Given the description of an element on the screen output the (x, y) to click on. 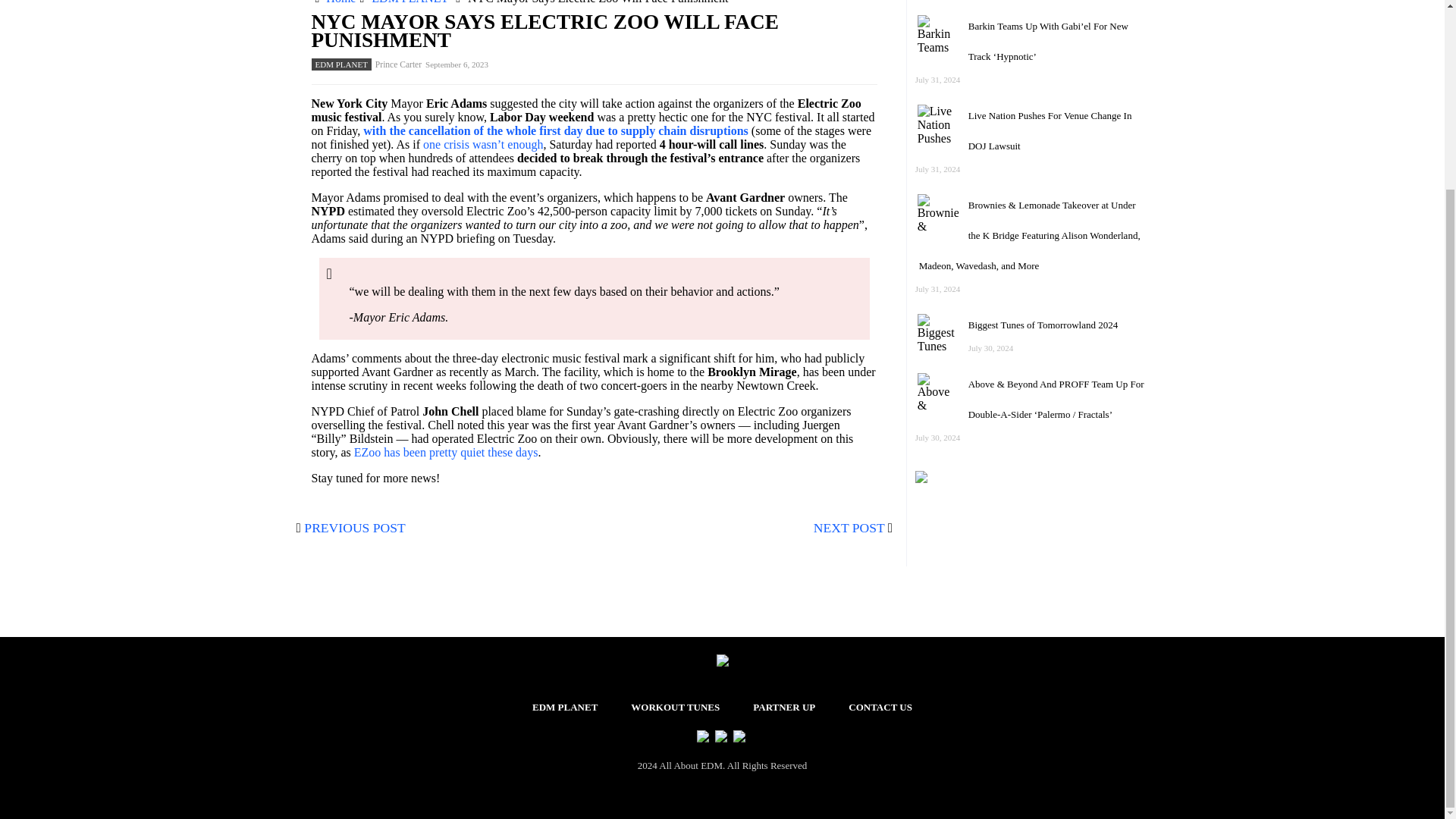
Prince Carter (398, 63)
EDM PLANET (341, 64)
EDM PLANET (409, 2)
Home (340, 2)
WORKOUT TUNES (675, 707)
PARTNER UP (783, 707)
PREVIOUS POST (354, 527)
EDM PLANET (564, 707)
CONTACT US (879, 707)
